Given the description of an element on the screen output the (x, y) to click on. 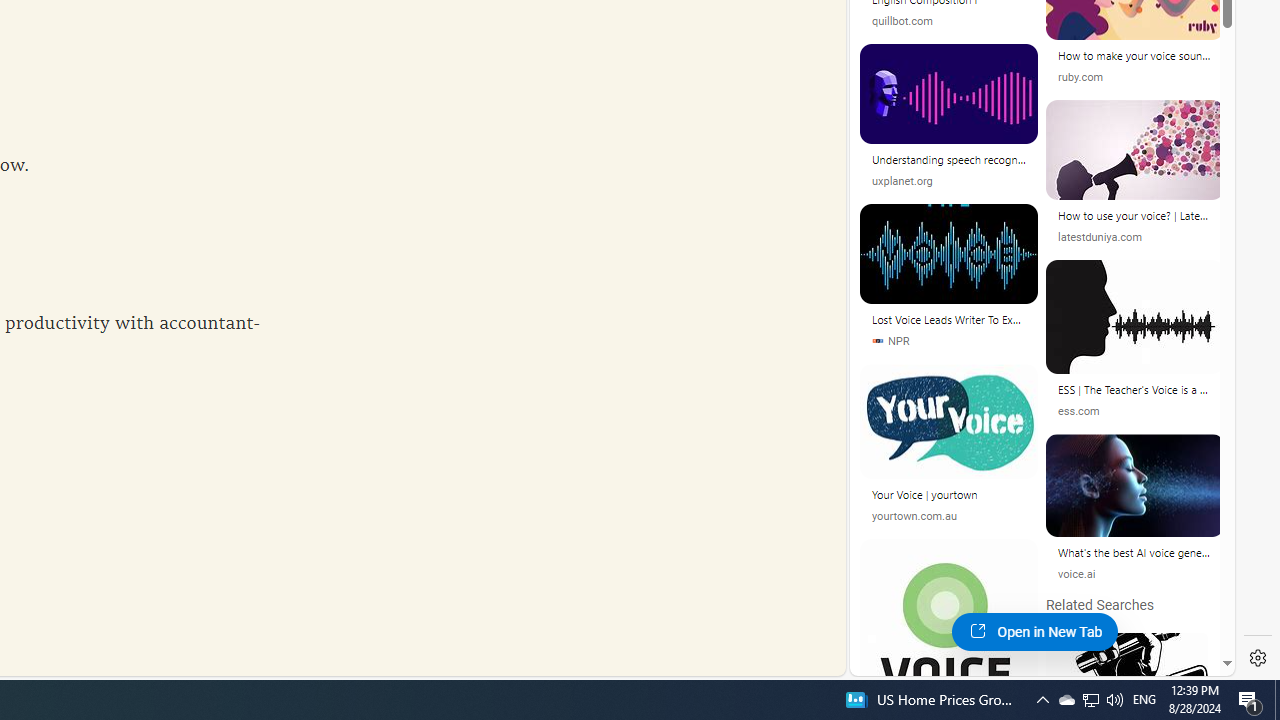
latestduniya.com (1135, 237)
What's the best AI voice generator? - voice.ai (1135, 556)
quillbot.com (902, 21)
voice.ai (1135, 574)
ruby.com (1135, 77)
Your Voice | yourtown (948, 497)
Voice Logo (1134, 657)
Your Voice | yourtown (948, 494)
uxplanet.org (902, 180)
Image result for Voice (1134, 485)
NPR (890, 340)
yourtown.com.au (948, 515)
